Given the description of an element on the screen output the (x, y) to click on. 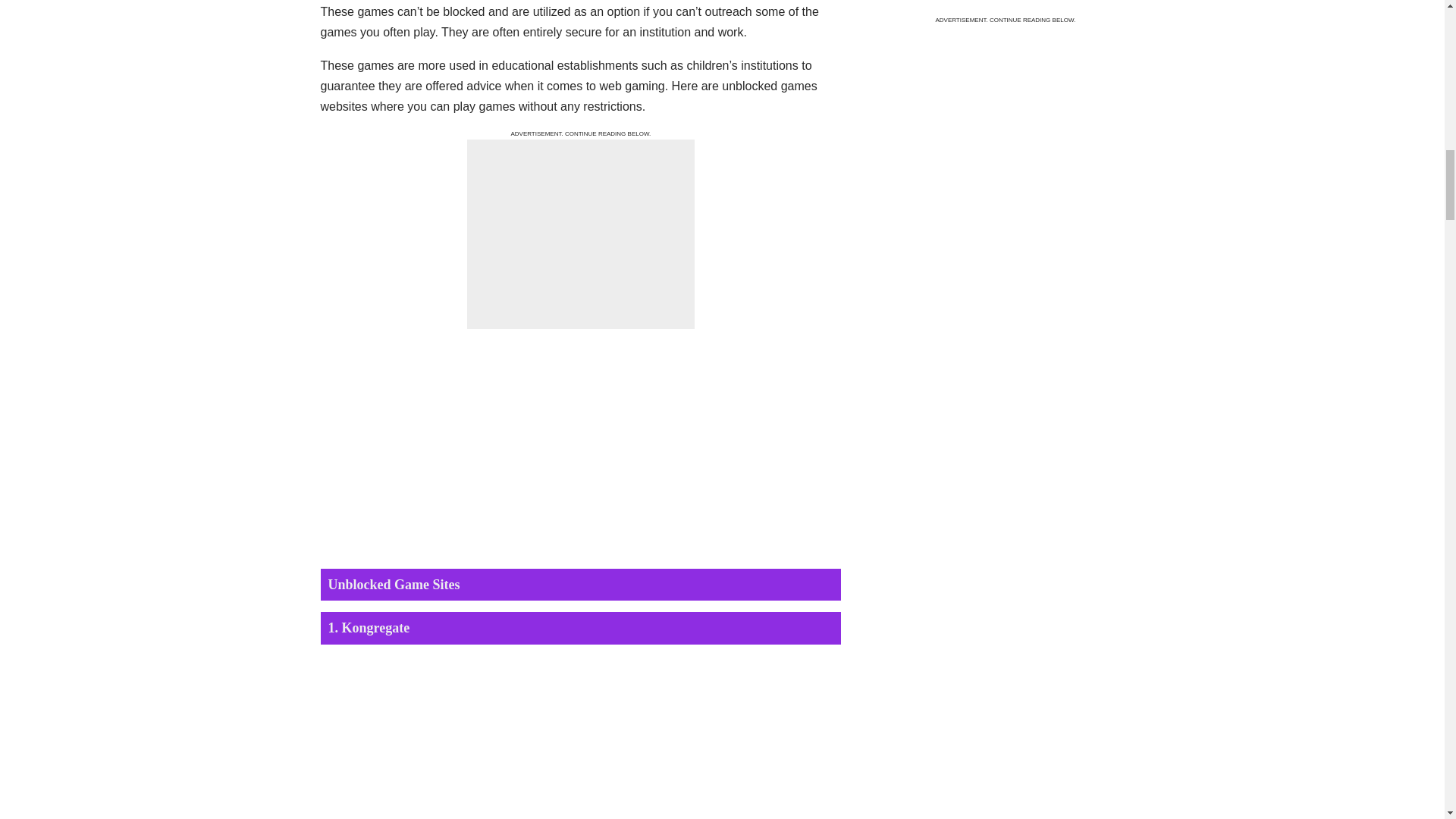
6 Best Apps to Chat With Foreigners (924, 36)
Windows 11 Update KB5040442 Displays error 0x80d02002 (924, 108)
How to Share Spotify Subscription with Someone Else (924, 180)
